Given the description of an element on the screen output the (x, y) to click on. 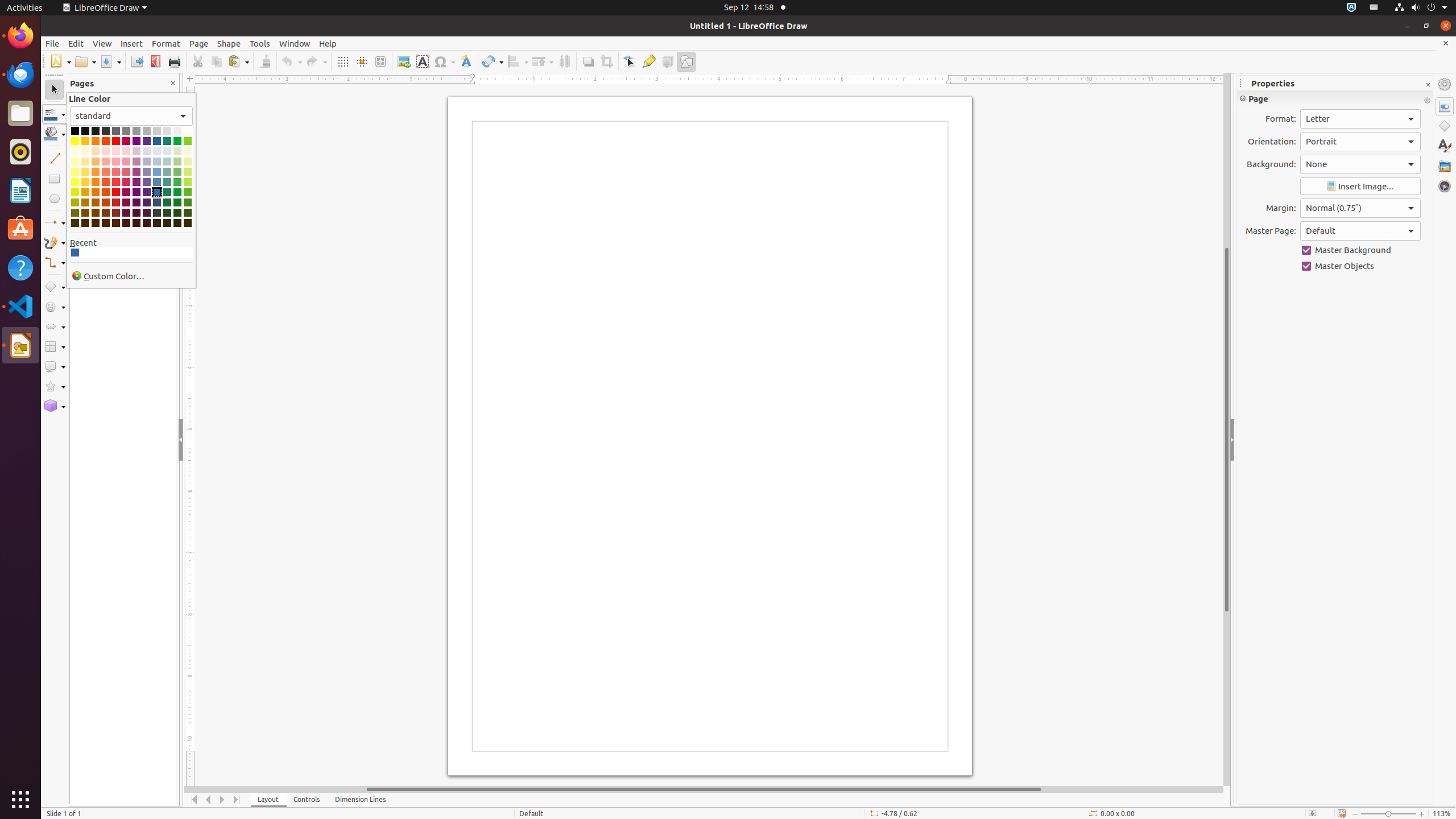
Symbol Element type: push-button (443, 61)
Page Element type: menu (198, 43)
Light Red 3 Element type: list-item (115, 161)
Curves and Polygons Element type: push-button (54, 242)
